Given the description of an element on the screen output the (x, y) to click on. 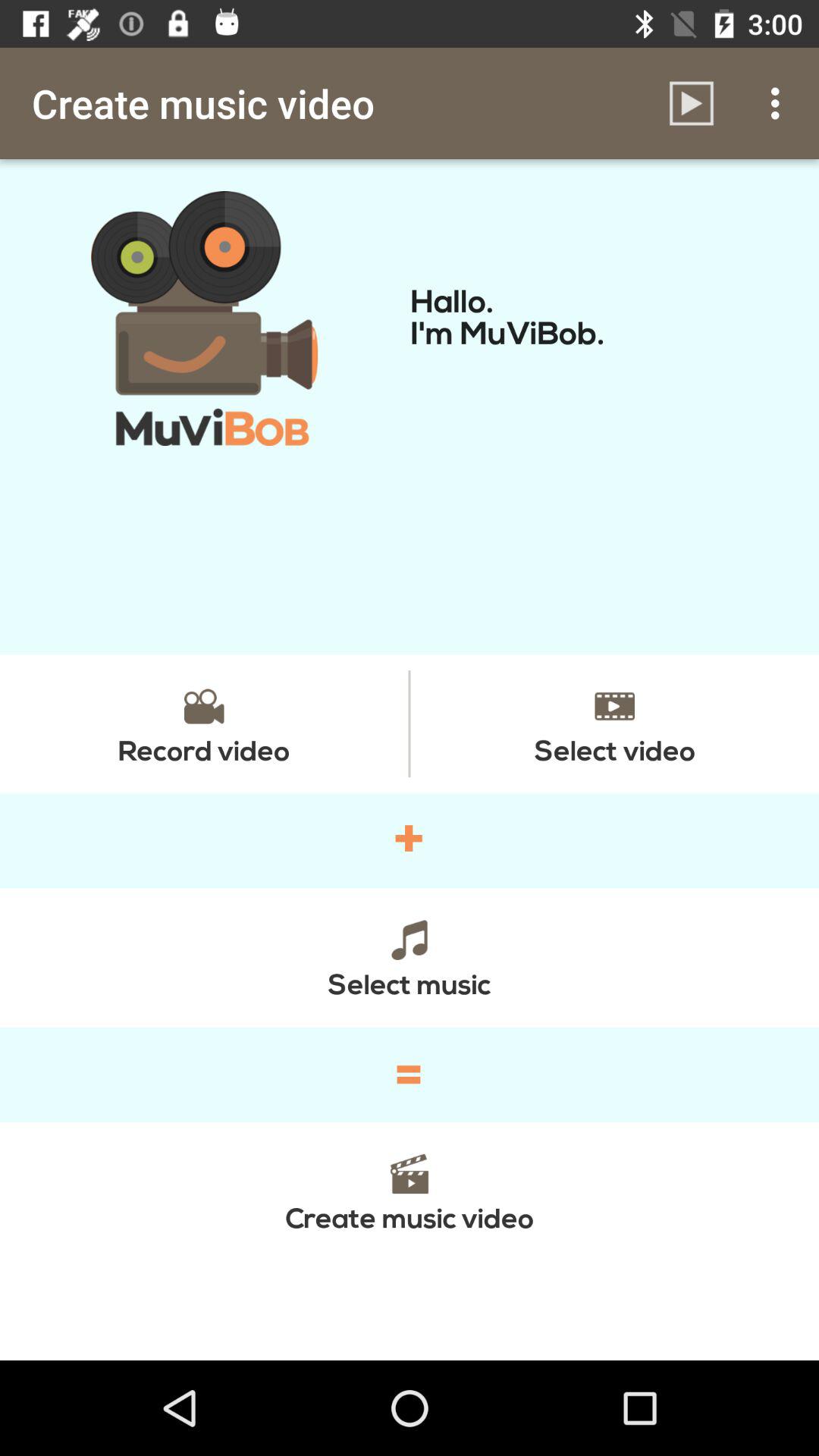
tap the record video item (204, 723)
